Given the description of an element on the screen output the (x, y) to click on. 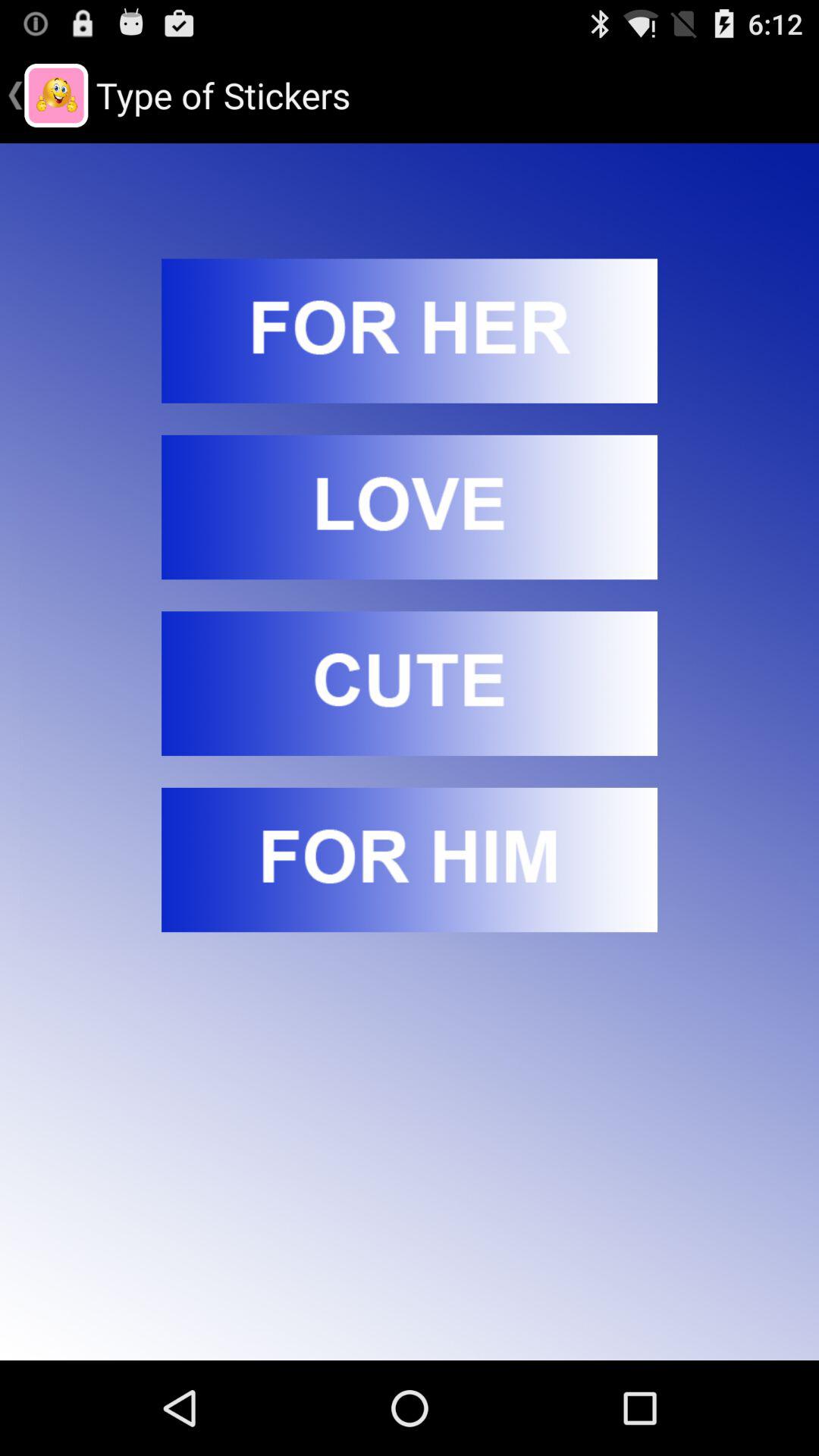
a button (409, 859)
